Given the description of an element on the screen output the (x, y) to click on. 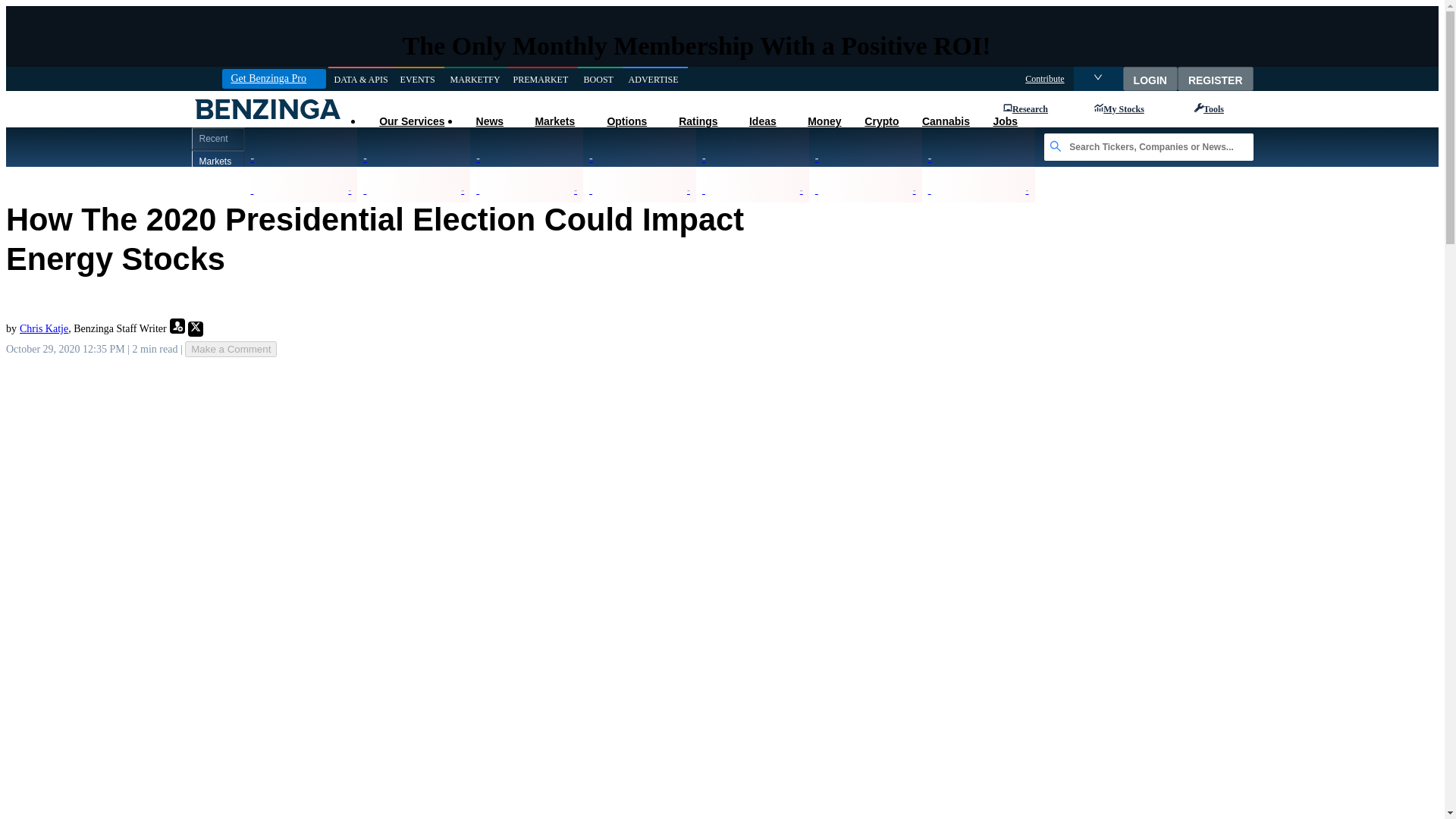
EVENTS (419, 78)
BOOST (600, 78)
PREMARKET (542, 78)
MARKETFY (475, 78)
Get Benzinga Pro (272, 78)
News (489, 121)
Contribute (1044, 78)
Our Services (411, 121)
LOGIN (1149, 78)
News (489, 121)
Our Services (411, 121)
REGISTER (1215, 78)
ADVERTISE (655, 78)
